Given the description of an element on the screen output the (x, y) to click on. 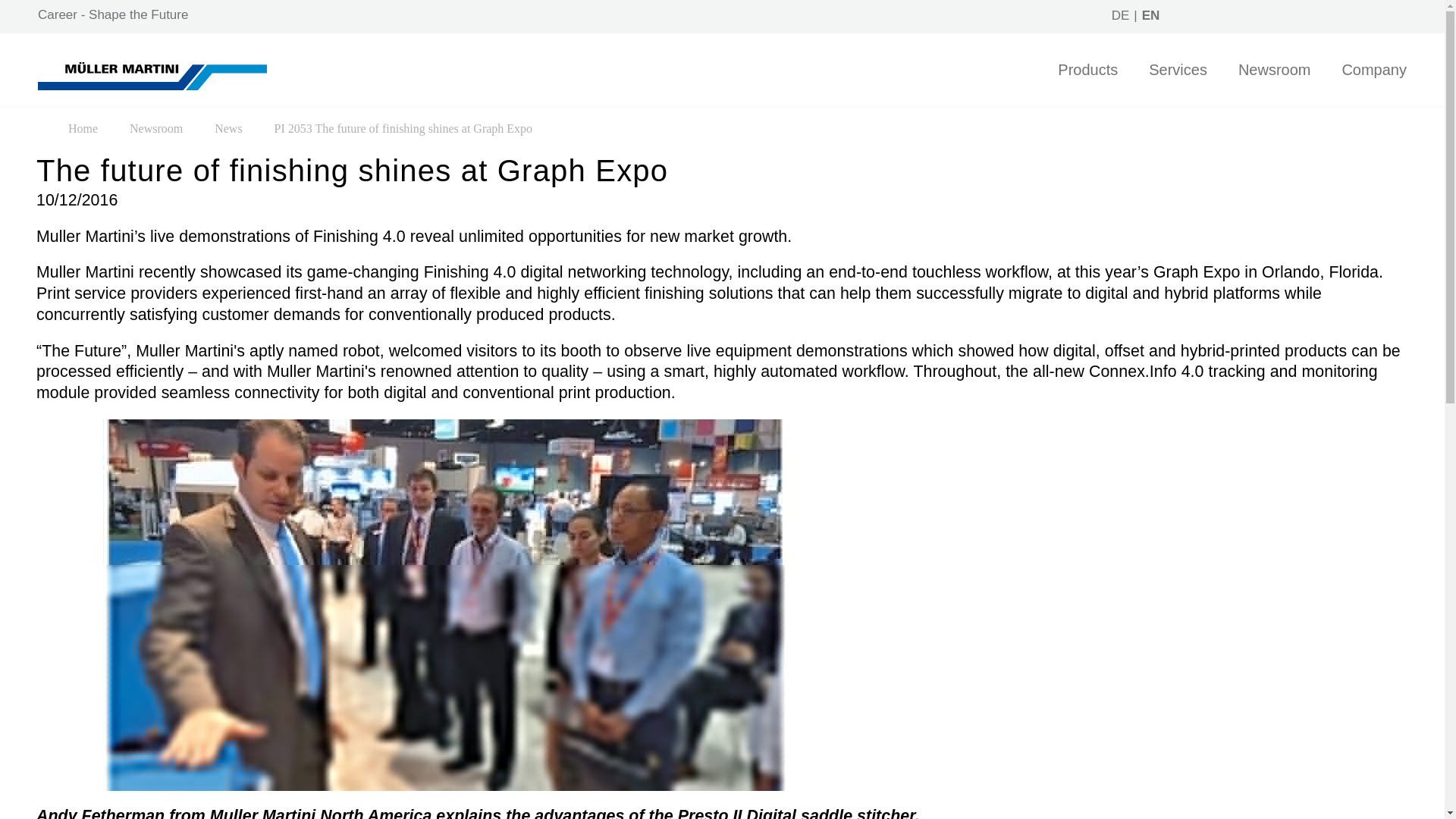
DE (1120, 15)
Career - Shape the Future (112, 14)
Products (1088, 82)
Newsroom (1275, 82)
Newsroom (156, 128)
Company (1373, 82)
Services (1177, 82)
EN (1150, 15)
Home (82, 128)
